Given the description of an element on the screen output the (x, y) to click on. 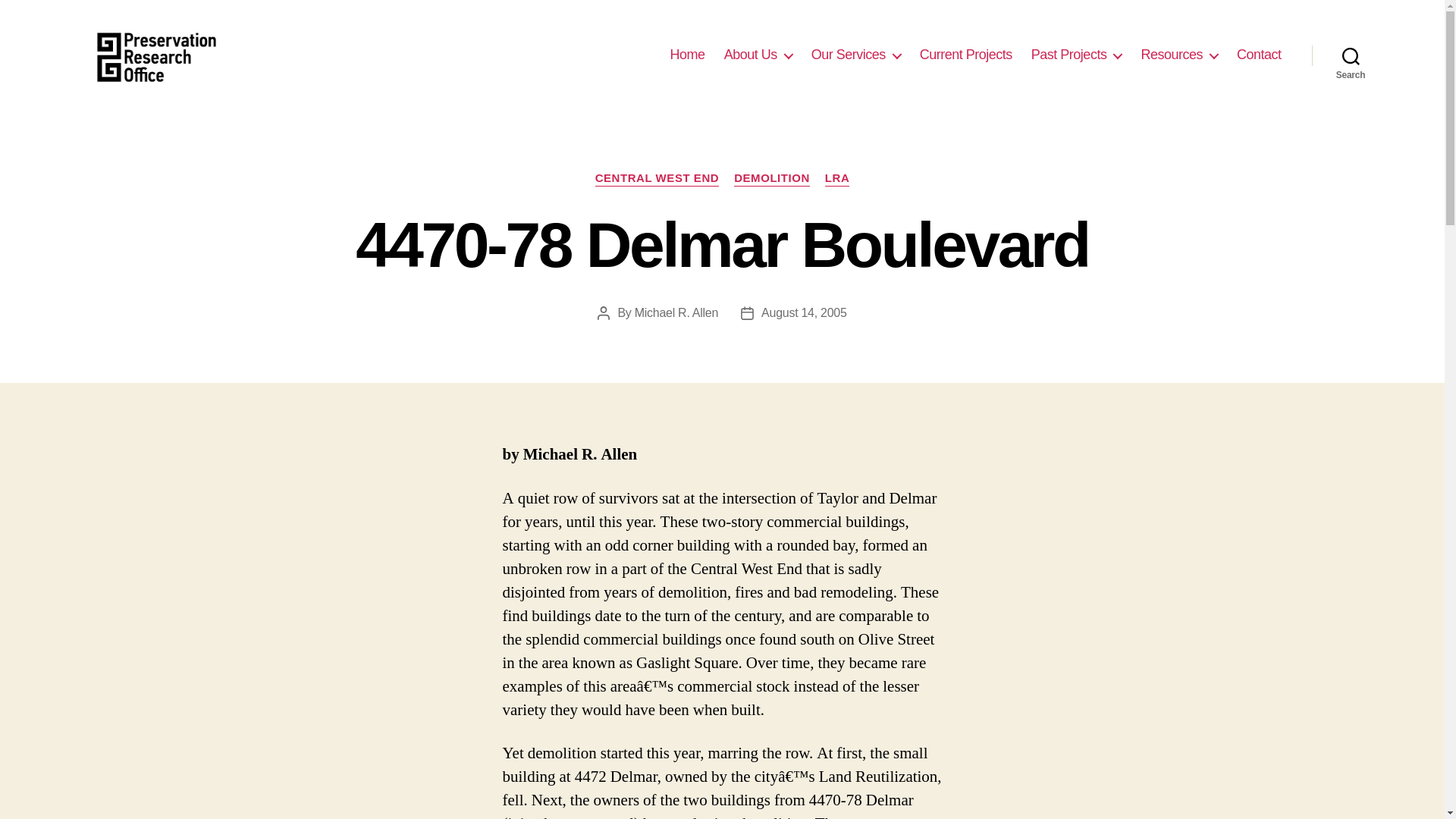
Search (1350, 55)
About Us (757, 54)
Past Projects (1076, 54)
Our Services (855, 54)
Resources (1178, 54)
Contact (1258, 54)
Current Projects (965, 54)
Home (686, 54)
